Given the description of an element on the screen output the (x, y) to click on. 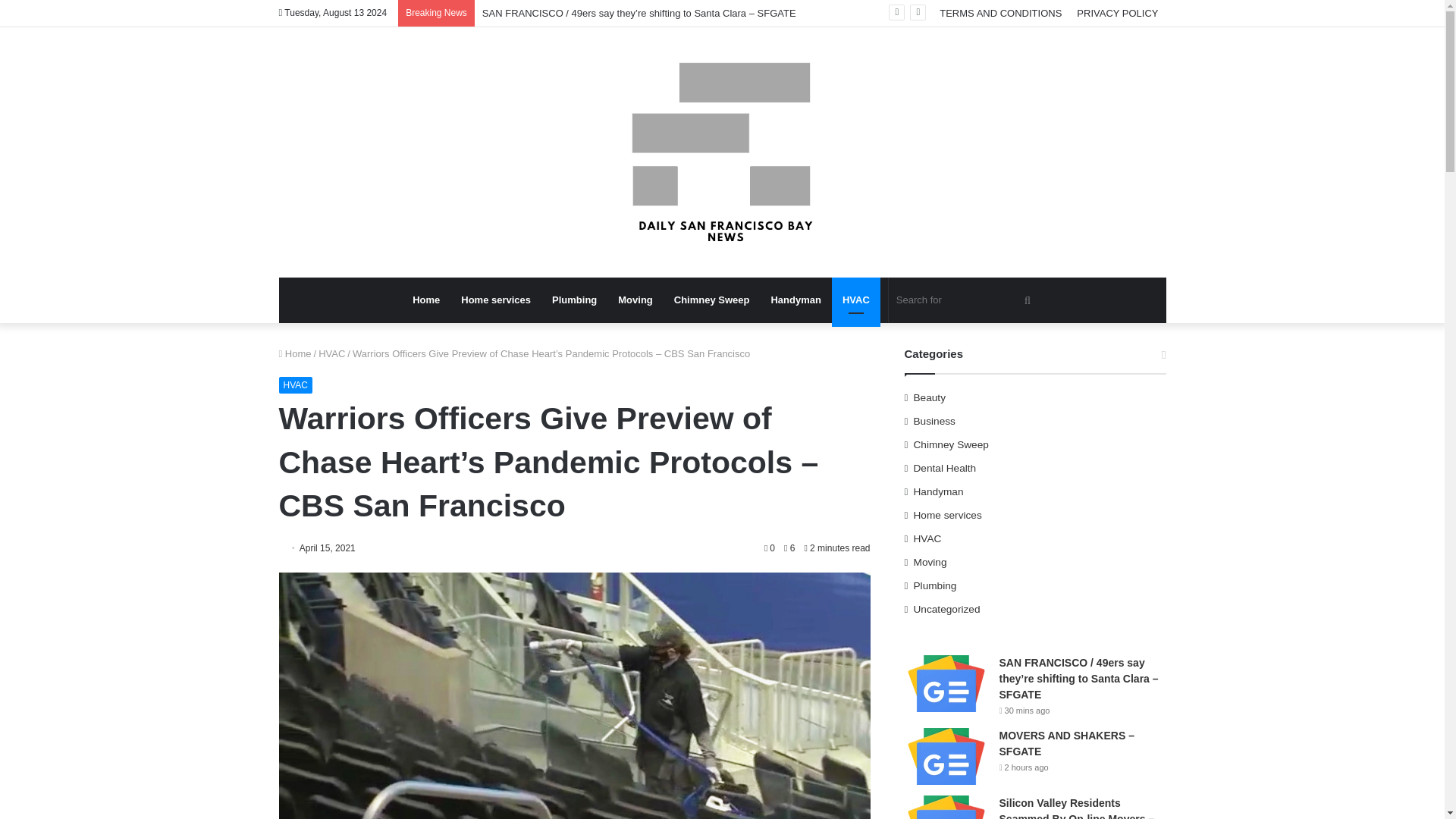
DAILY SAN FRANCISCO BAY NEWS (721, 152)
PRIVACY POLICY (1117, 13)
HVAC (296, 384)
HVAC (331, 353)
Home services (495, 299)
TERMS AND CONDITIONS (999, 13)
Chimney Sweep (711, 299)
Home (425, 299)
HVAC (855, 299)
Home (295, 353)
